Given the description of an element on the screen output the (x, y) to click on. 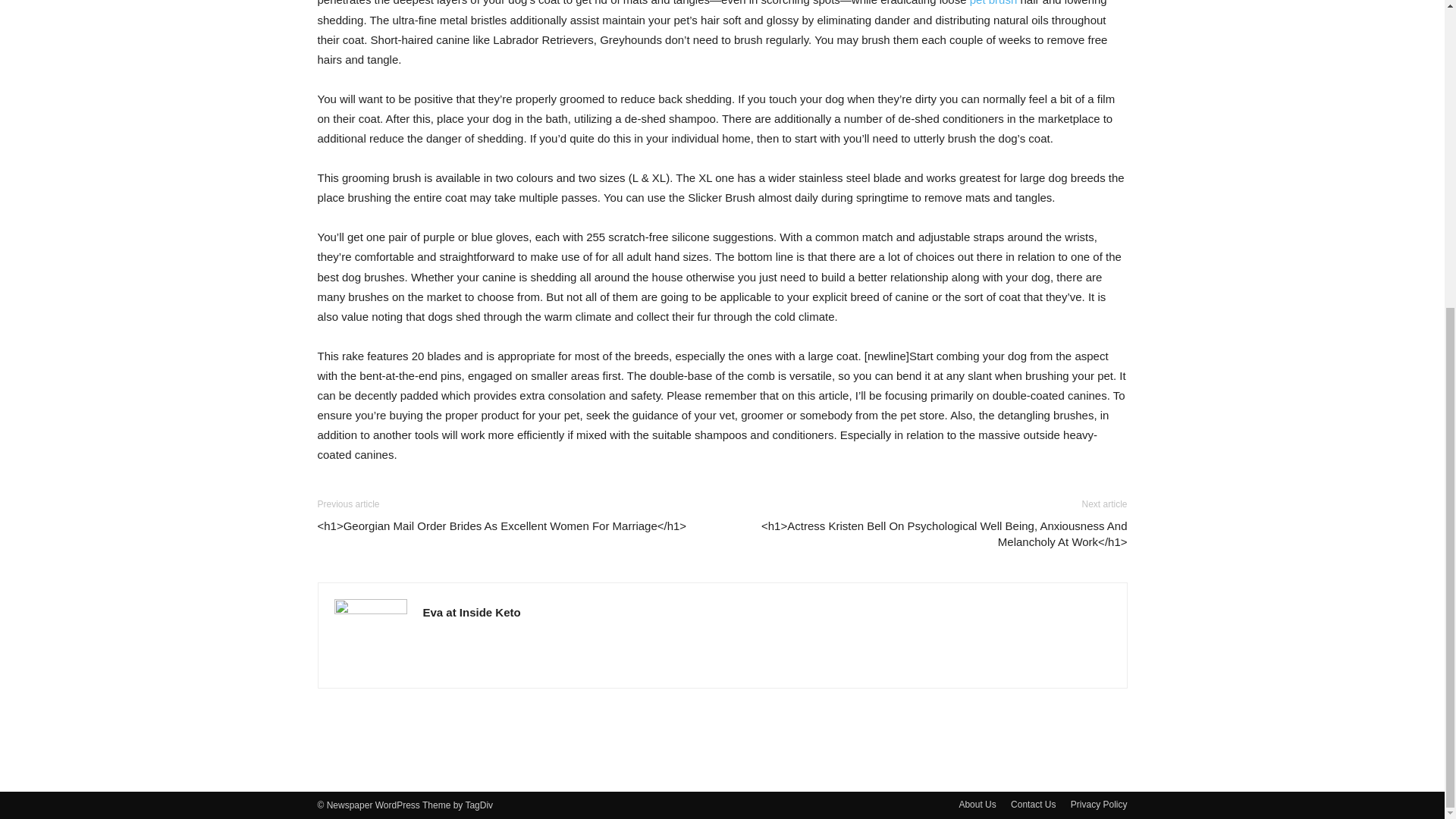
Privacy Policy (1098, 804)
Eva at Inside Keto (472, 612)
pet brush (993, 2)
Contact Us (1032, 804)
About Us (976, 804)
